Given the description of an element on the screen output the (x, y) to click on. 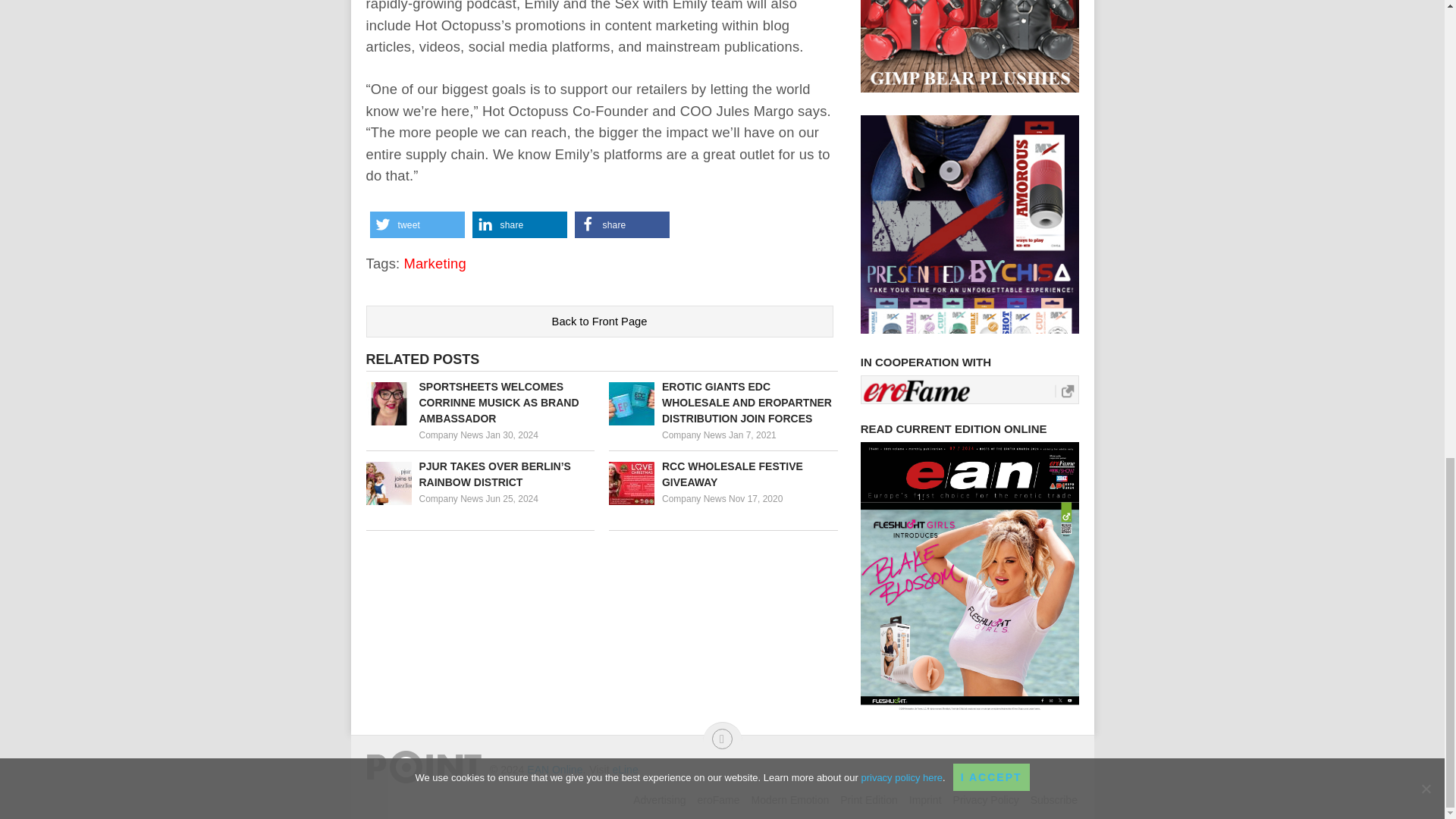
Share on Twitter (416, 224)
Back to Front Page (599, 321)
tweet  (416, 224)
Share on LinkedIn (518, 224)
Marketing (434, 263)
share  (622, 224)
Company News (694, 434)
RCC Wholesale festive giveaway (723, 474)
Share on Facebook (622, 224)
Company News (451, 498)
Sportsheets welcomes Corrinne Musick as Brand Ambassador (479, 402)
SPORTSHEETS WELCOMES CORRINNE MUSICK AS BRAND AMBASSADOR (479, 402)
RCC WHOLESALE FESTIVE GIVEAWAY (723, 474)
Company News (451, 434)
